Given the description of an element on the screen output the (x, y) to click on. 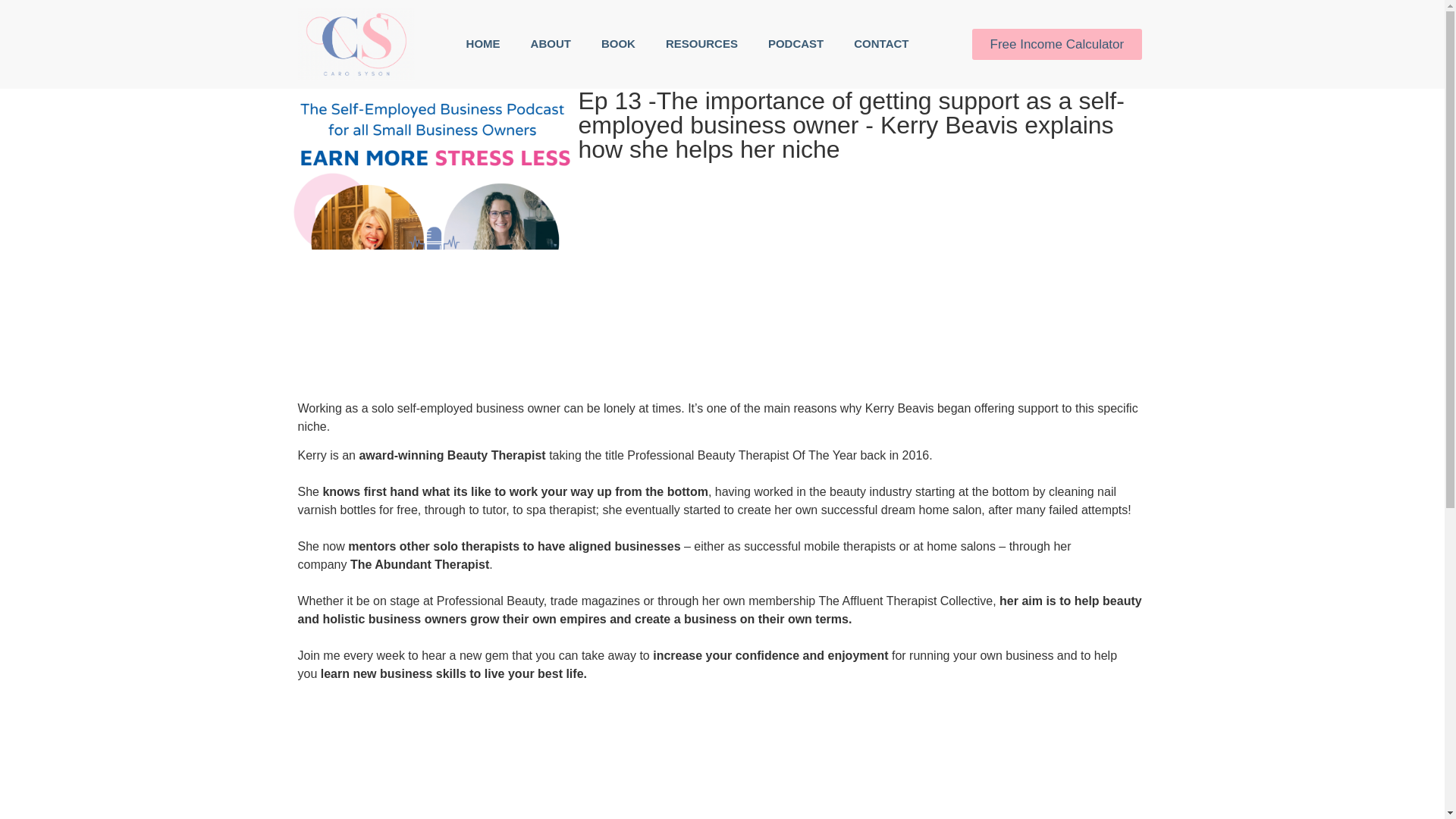
PODCAST (795, 43)
CONTACT (880, 43)
Free Income Calculator (1057, 43)
BOOK (618, 43)
RESOURCES (701, 43)
Audioboom player (722, 749)
HOME (483, 43)
ABOUT (550, 43)
